Given the description of an element on the screen output the (x, y) to click on. 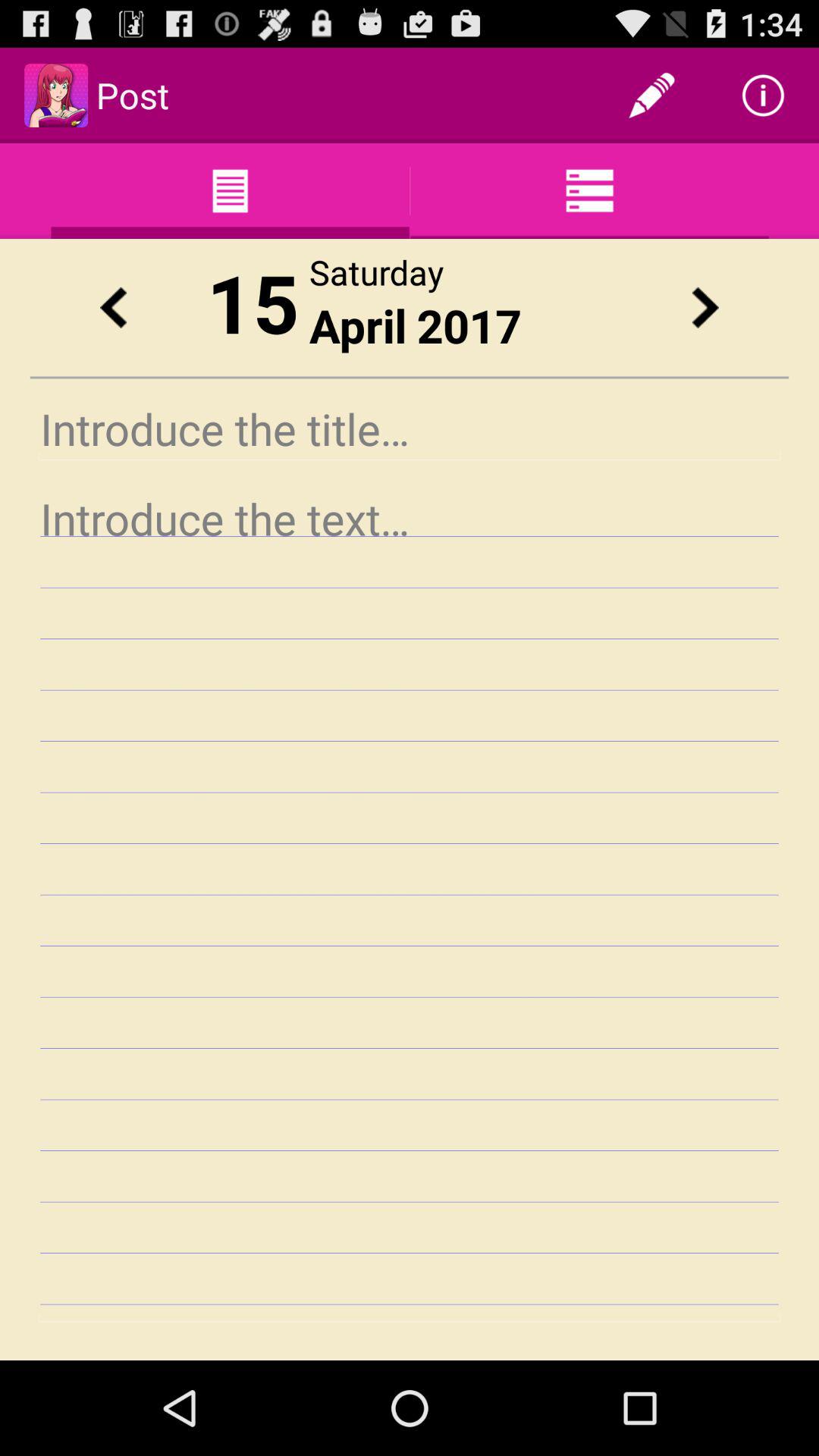
previous date (113, 307)
